Given the description of an element on the screen output the (x, y) to click on. 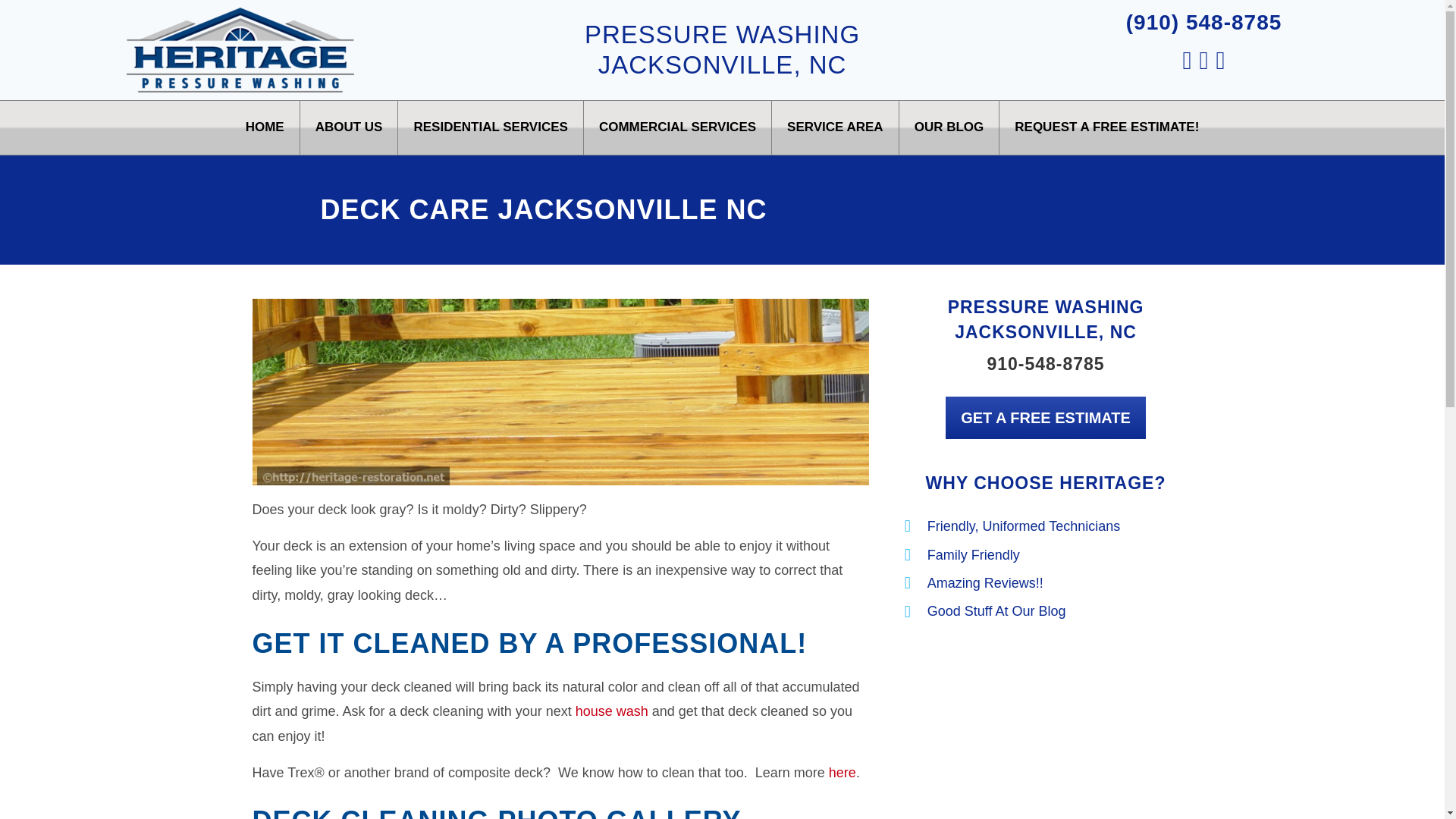
house wash (611, 711)
here (842, 772)
Trex Deck Cleaning (842, 772)
REQUEST A FREE ESTIMATE! (1106, 127)
910-548-8785 (1045, 363)
Pressure Washing Jacksonville NC (611, 711)
COMMERCIAL SERVICES (677, 127)
Heritage Pressure Washing (239, 49)
RESIDENTIAL SERVICES (489, 127)
OUR BLOG (948, 127)
SERVICE AREA (834, 127)
HOME (264, 127)
ABOUT US (348, 127)
